Given the description of an element on the screen output the (x, y) to click on. 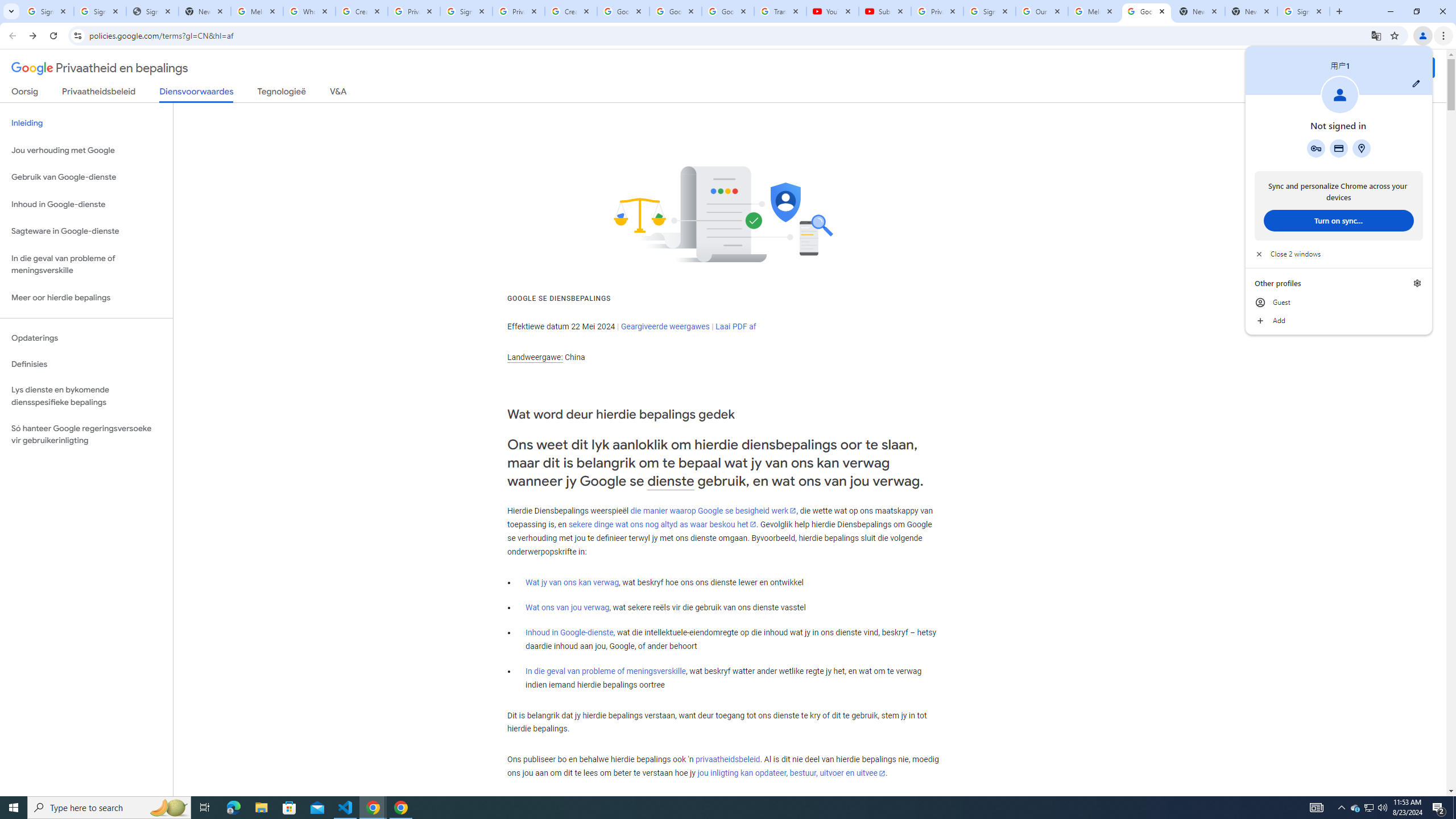
sekere dinge wat ons nog altyd as waar beskou het (662, 524)
Notification Chevron (1341, 807)
New Tab (1251, 11)
die manier waarop Google se besigheid werk (713, 510)
Sign in - Google Accounts (466, 11)
Google Password Manager (1315, 148)
Diensvoorwaardes (196, 94)
Inleiding (86, 122)
Translate this page (1376, 35)
User Promoted Notification Area (1368, 807)
